Given the description of an element on the screen output the (x, y) to click on. 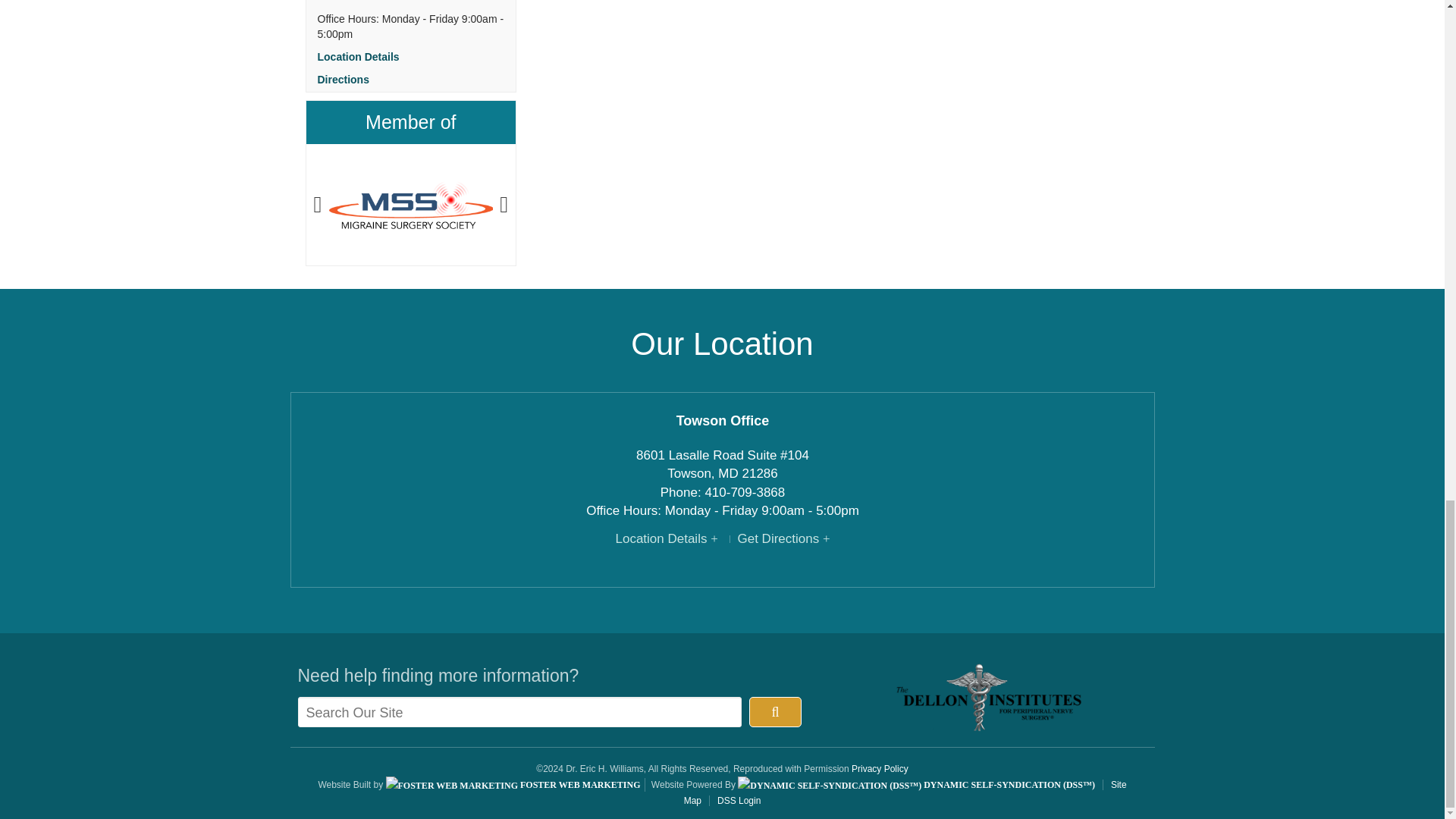
Search (774, 711)
